Given the description of an element on the screen output the (x, y) to click on. 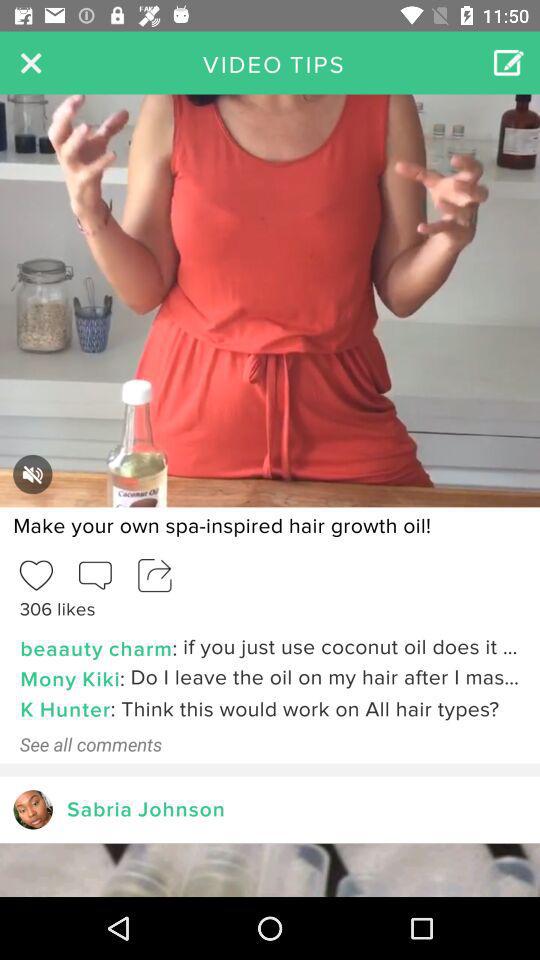
next follower (32, 809)
